Given the description of an element on the screen output the (x, y) to click on. 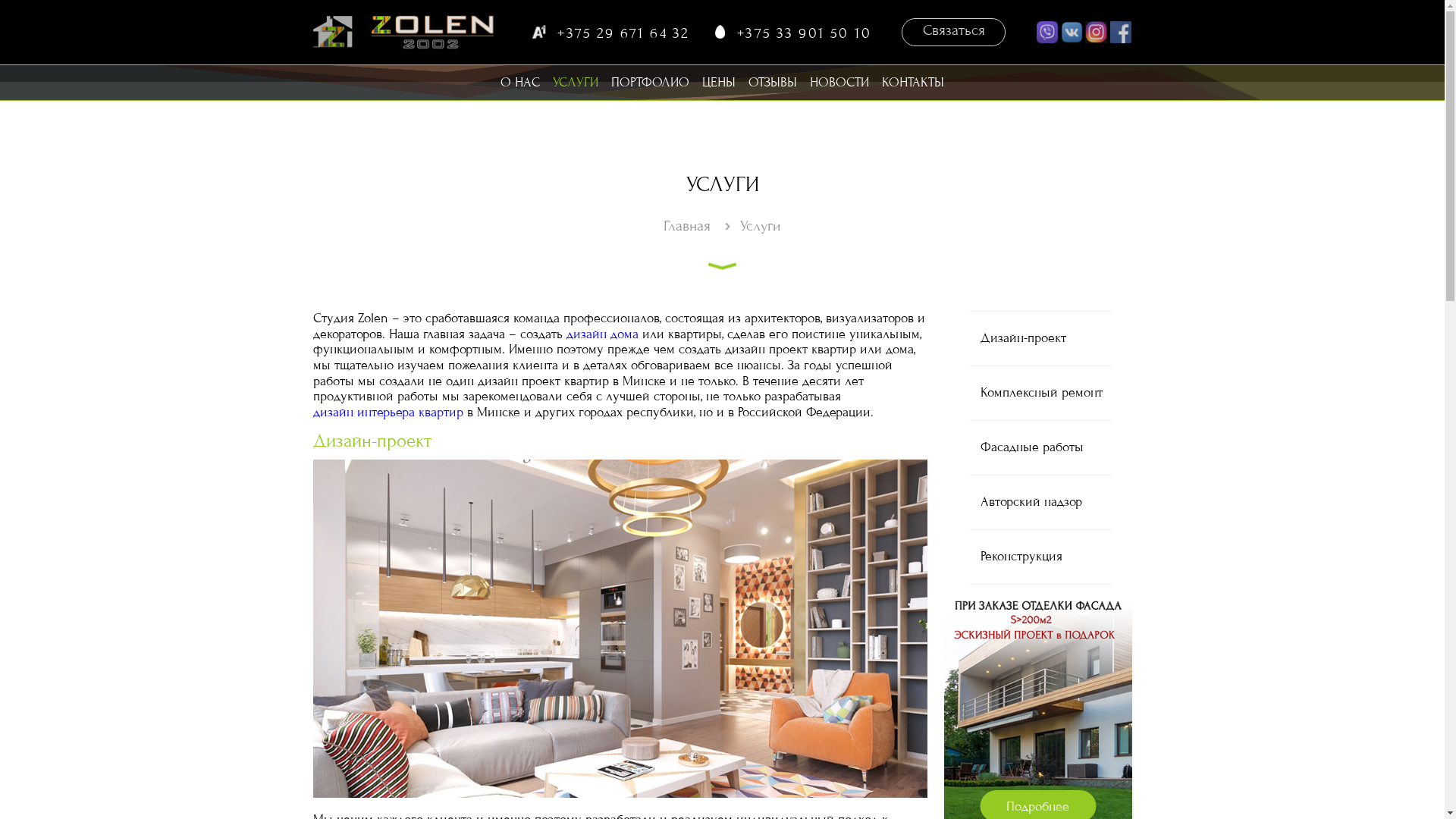
+375 29 671 64 32 Element type: text (677, 35)
+375 33 901 50 10 Element type: text (877, 35)
